Given the description of an element on the screen output the (x, y) to click on. 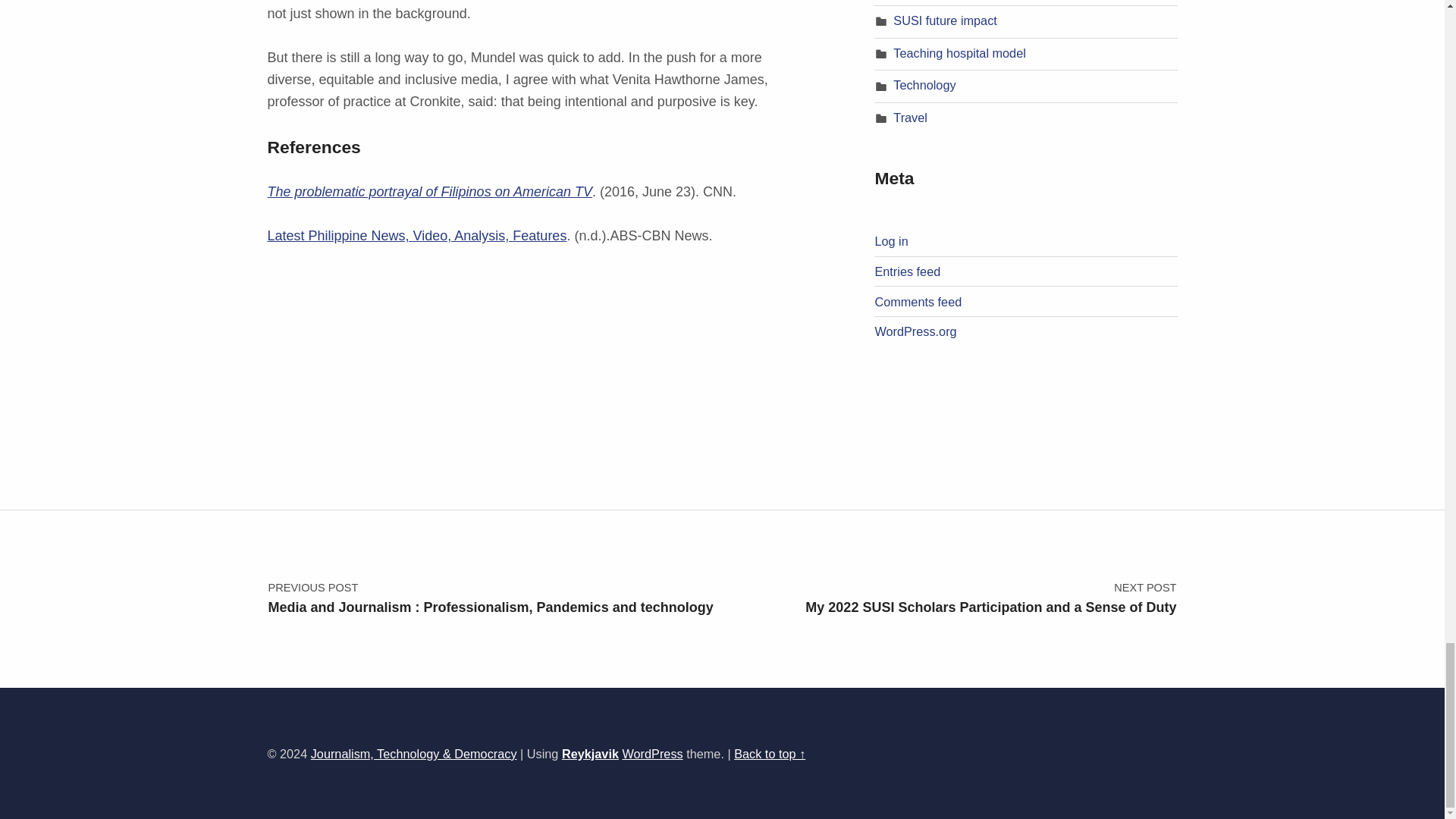
The problematic portrayal of Filipinos on American TV (429, 191)
Latest Philippine News, Video, Analysis, Features (416, 235)
